Given the description of an element on the screen output the (x, y) to click on. 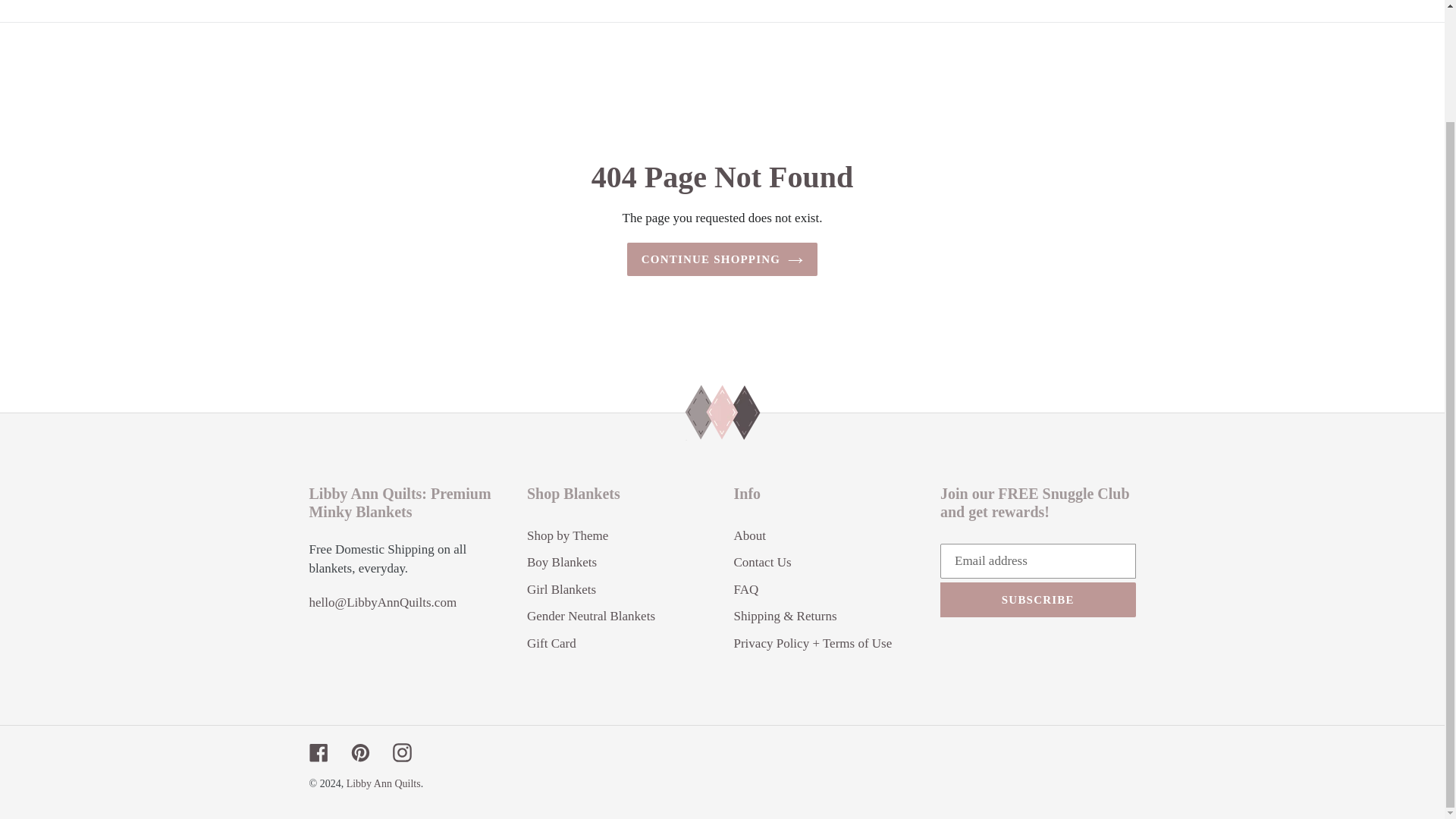
Facebook Live Checkout (622, 1)
Girl Blankets (740, 1)
Boy Blankets (828, 1)
